Given the description of an element on the screen output the (x, y) to click on. 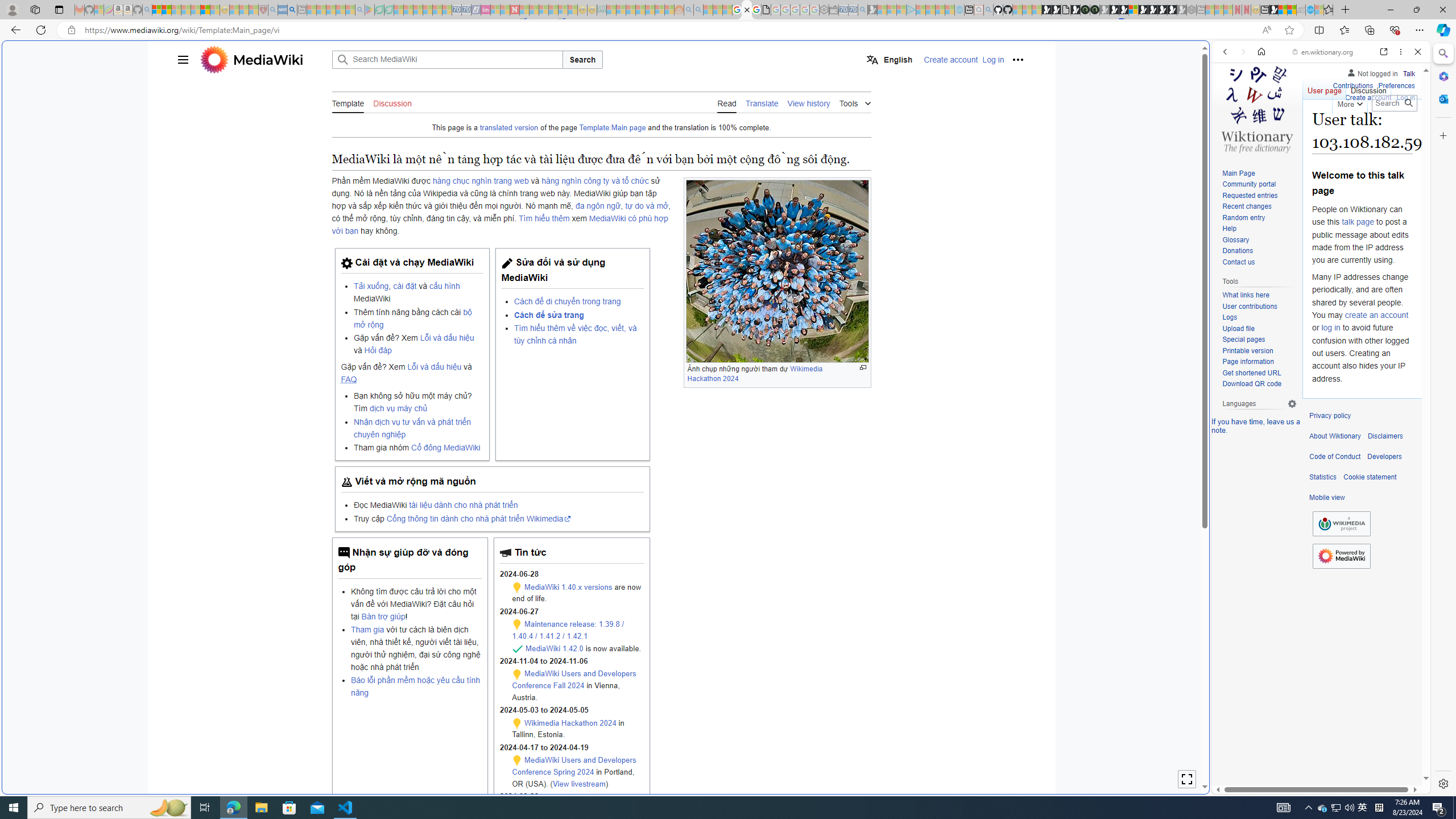
create an account (1376, 314)
